Given the description of an element on the screen output the (x, y) to click on. 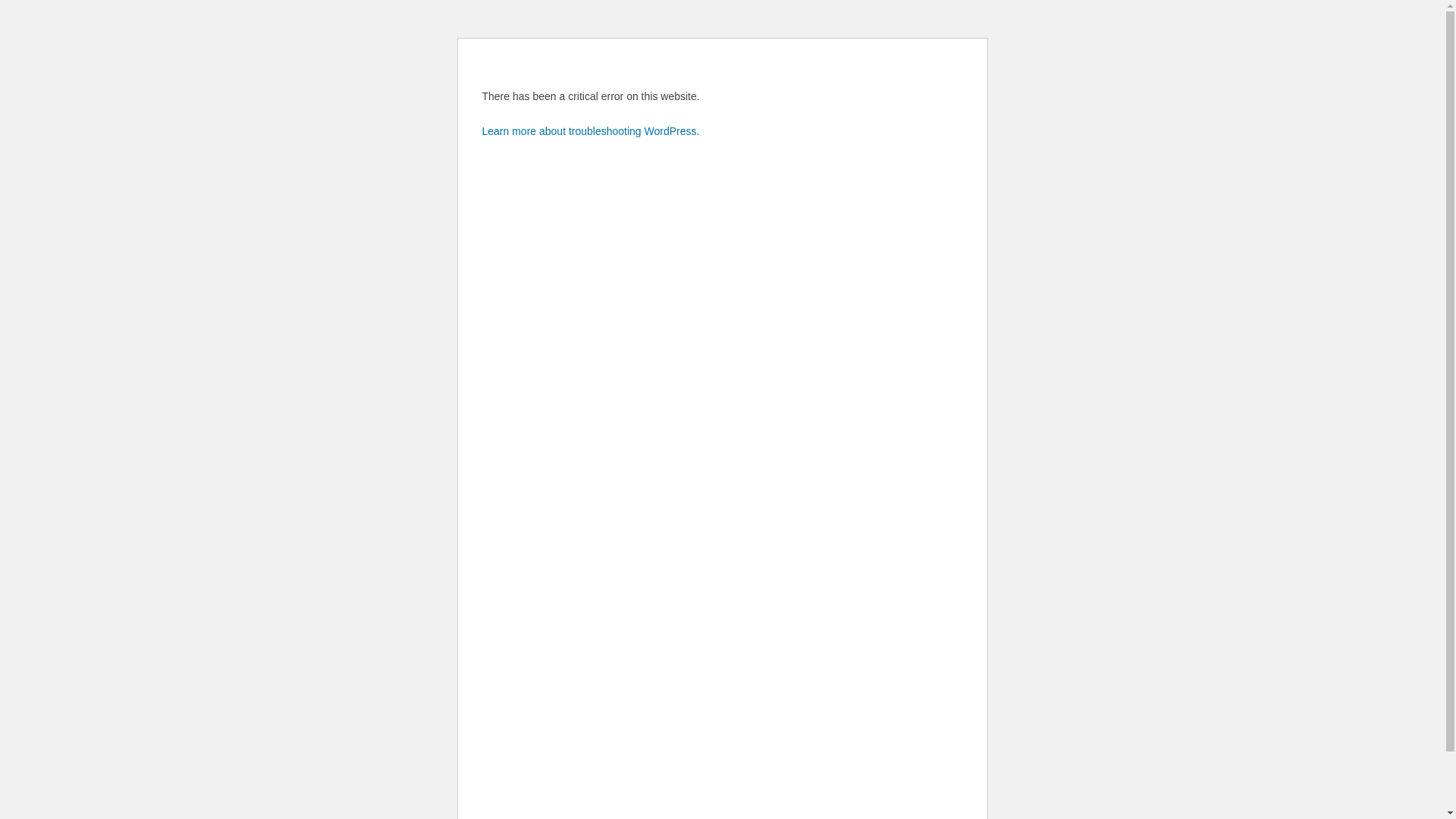
Learn more about troubleshooting WordPress. Element type: text (590, 131)
